Given the description of an element on the screen output the (x, y) to click on. 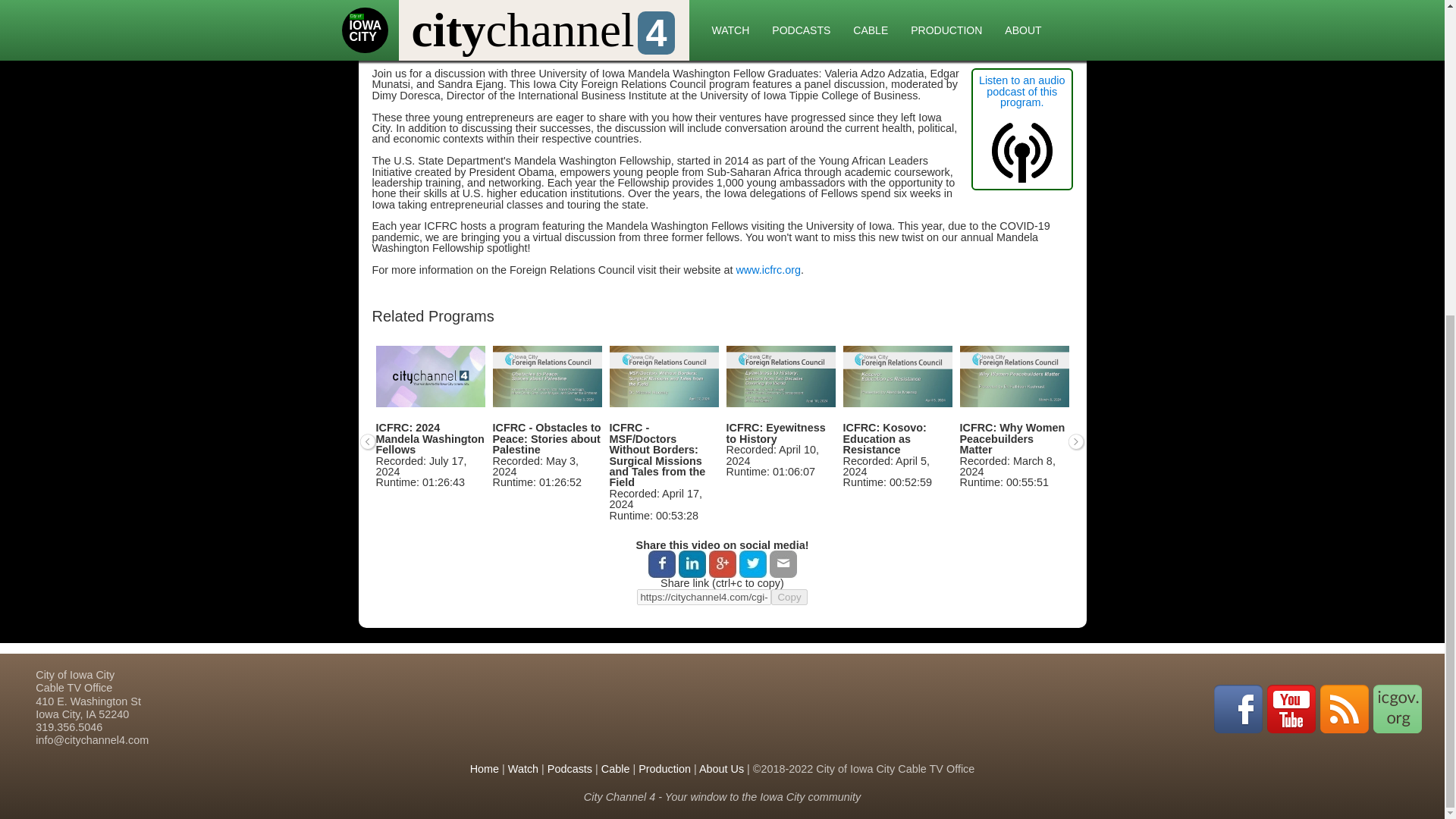
www.icfrc.org (767, 269)
